Given the description of an element on the screen output the (x, y) to click on. 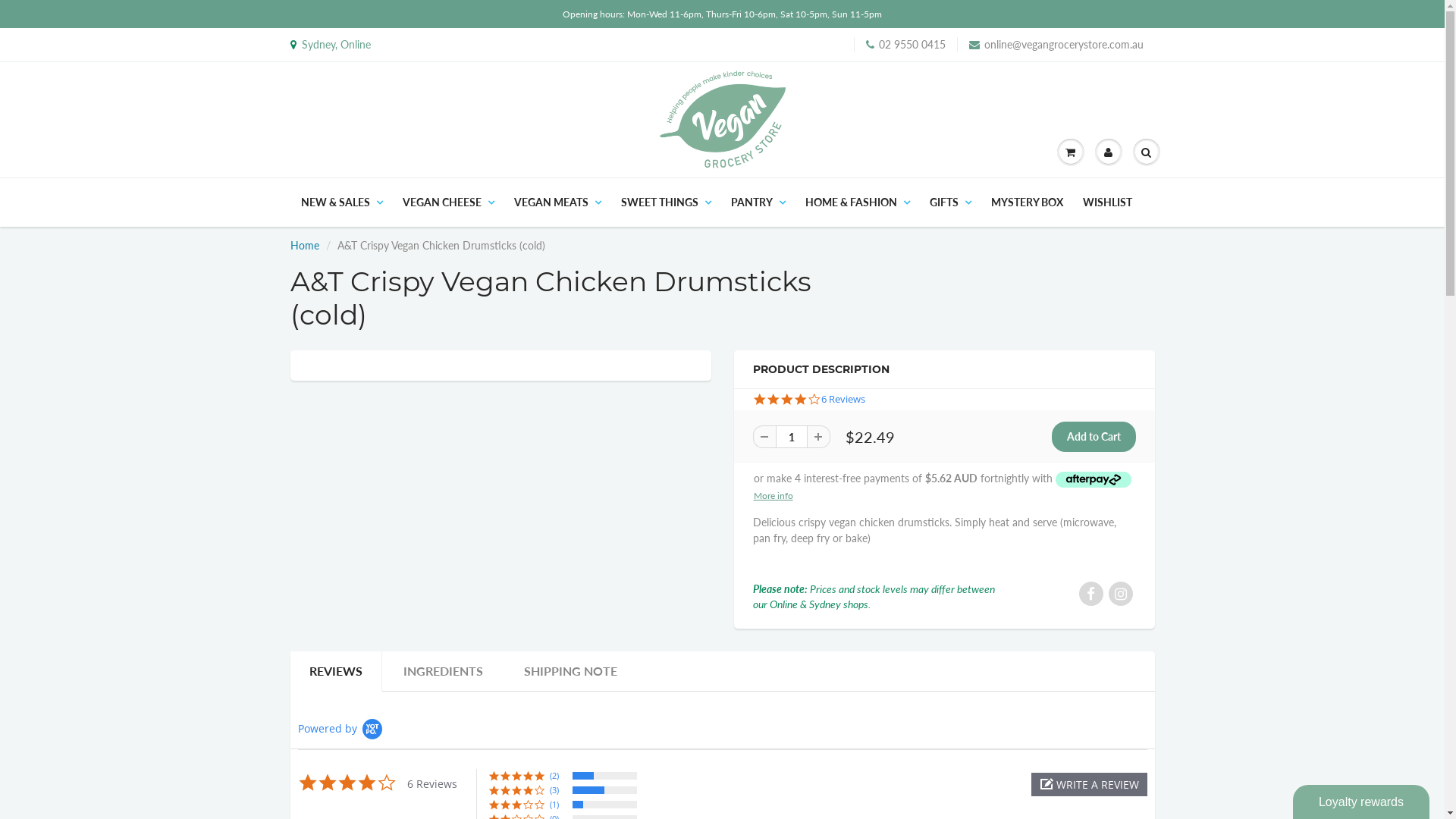
6 Reviews Element type: text (842, 399)
online@vegangrocerystore.com.au Element type: text (1063, 44)
Add to Cart Element type: text (1093, 436)
02 9550 0415 Element type: text (911, 44)
HOME & FASHION Element type: text (856, 201)
WISHLIST Element type: text (1106, 201)
NEW & SALES Element type: text (341, 201)
SHIPPING NOTE Element type: text (569, 671)
VEGAN CHEESE Element type: text (448, 201)
REVIEWS Element type: text (335, 671)
Sydney, Online Element type: text (332, 44)
More info Element type: text (773, 494)
PANTRY Element type: text (757, 201)
Home Element type: text (303, 244)
SWEET THINGS Element type: text (666, 201)
GIFTS Element type: text (949, 201)
MYSTERY BOX Element type: text (1027, 201)
INGREDIENTS Element type: text (442, 671)
VEGAN MEATS Element type: text (556, 201)
